Given the description of an element on the screen output the (x, y) to click on. 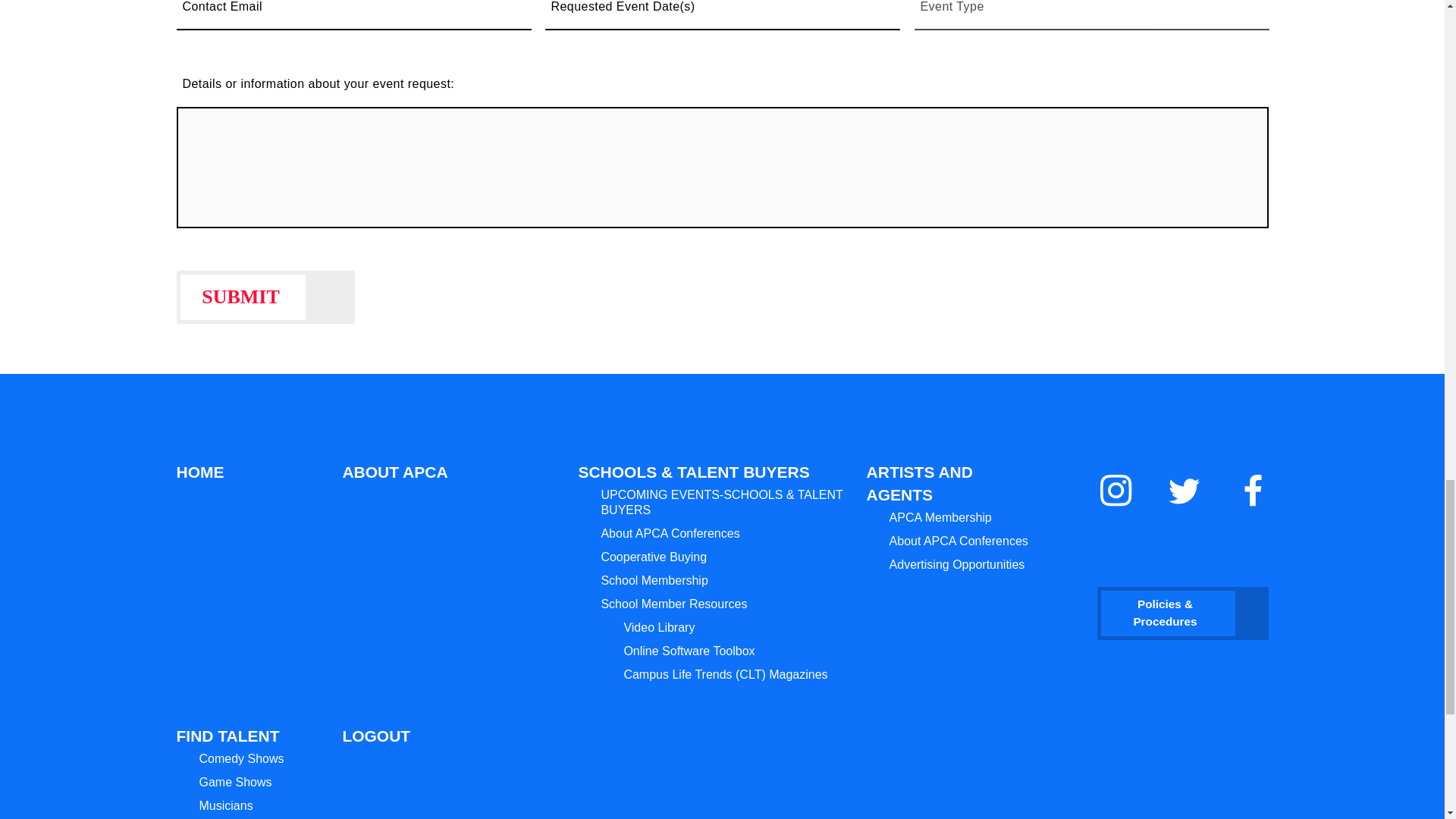
Submit (264, 297)
HOME (205, 471)
Submit (264, 297)
